Given the description of an element on the screen output the (x, y) to click on. 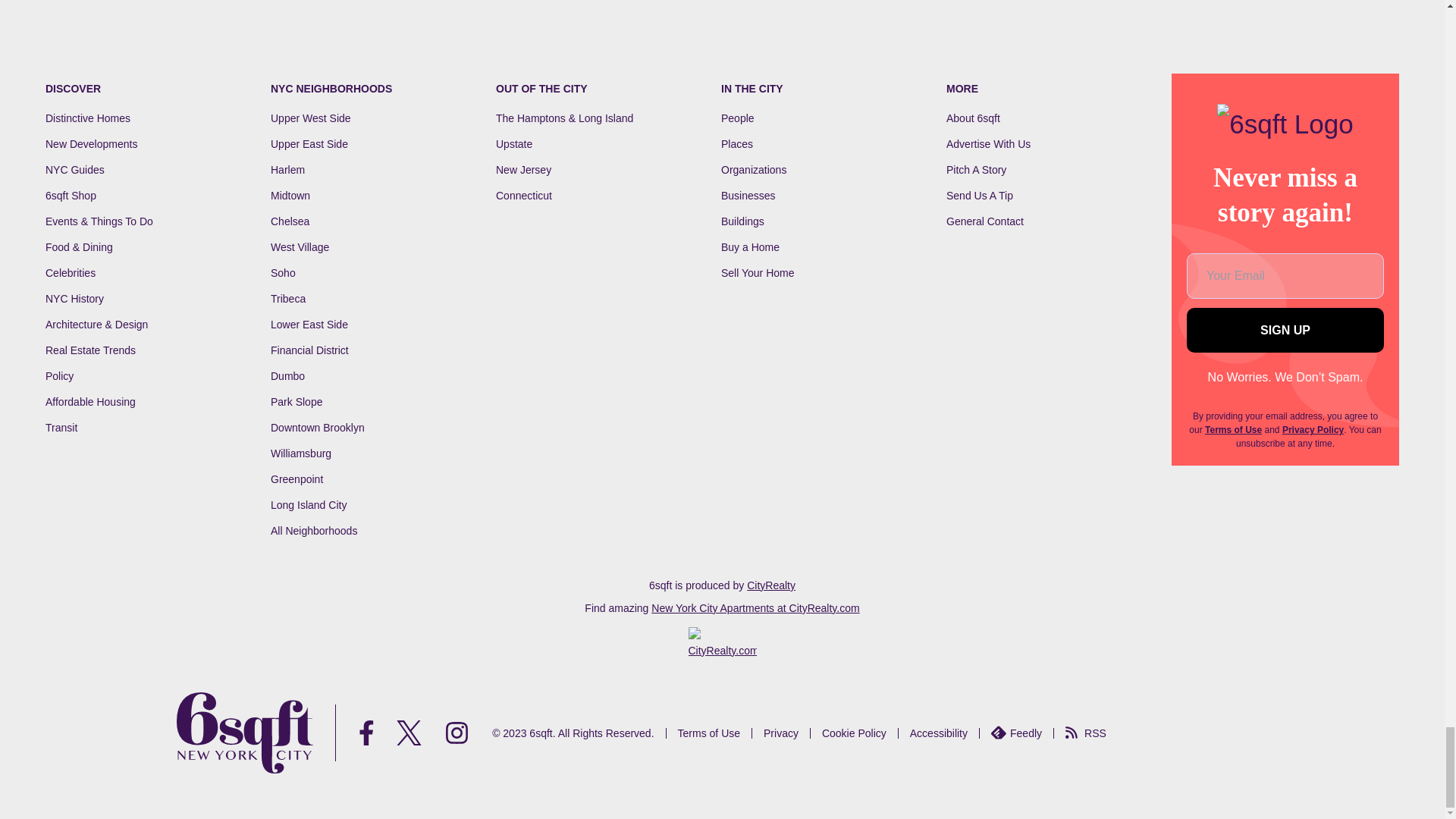
SIGN UP (1285, 329)
